Given the description of an element on the screen output the (x, y) to click on. 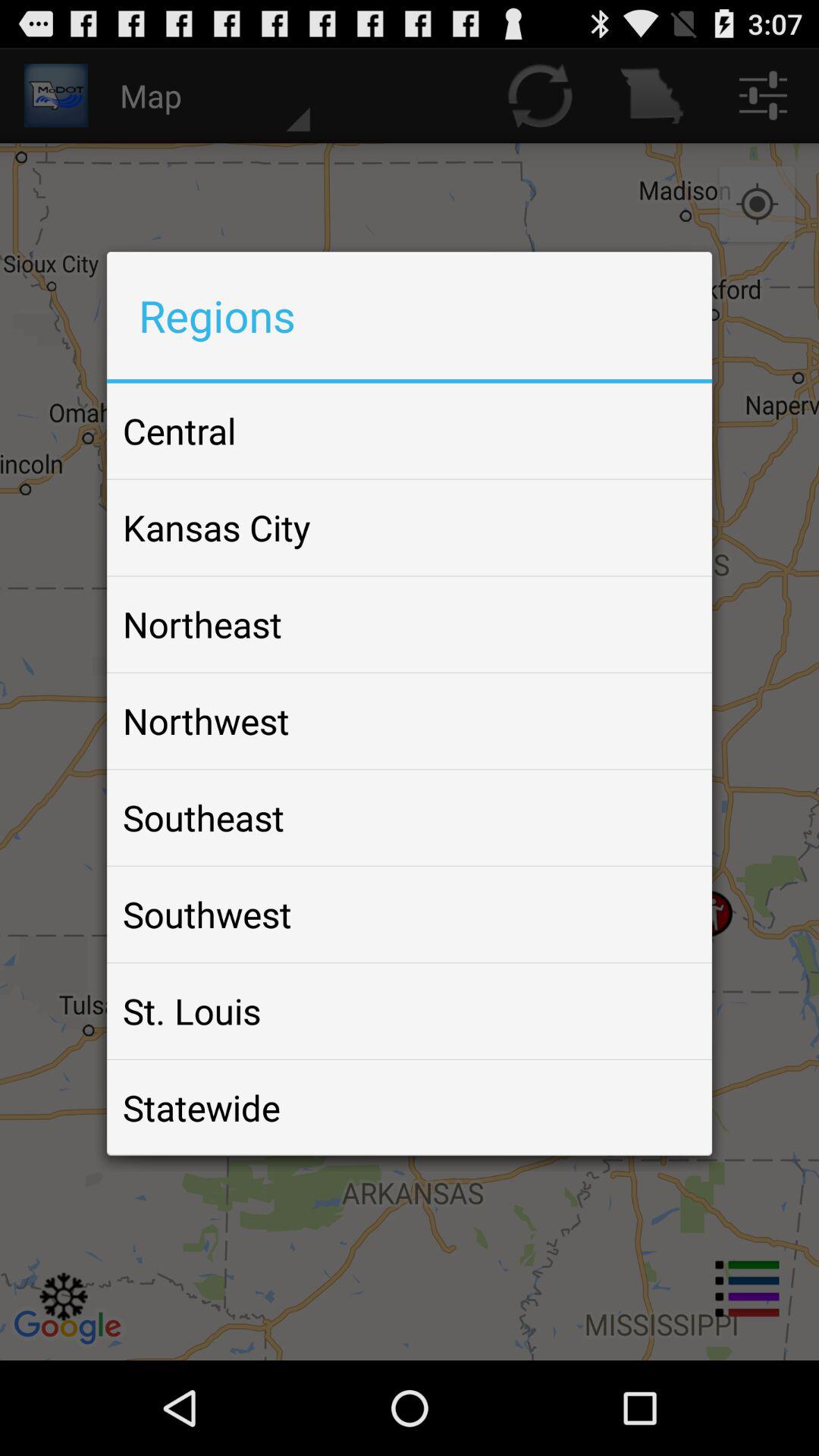
turn on the icon next to the statewide item (664, 1107)
